Given the description of an element on the screen output the (x, y) to click on. 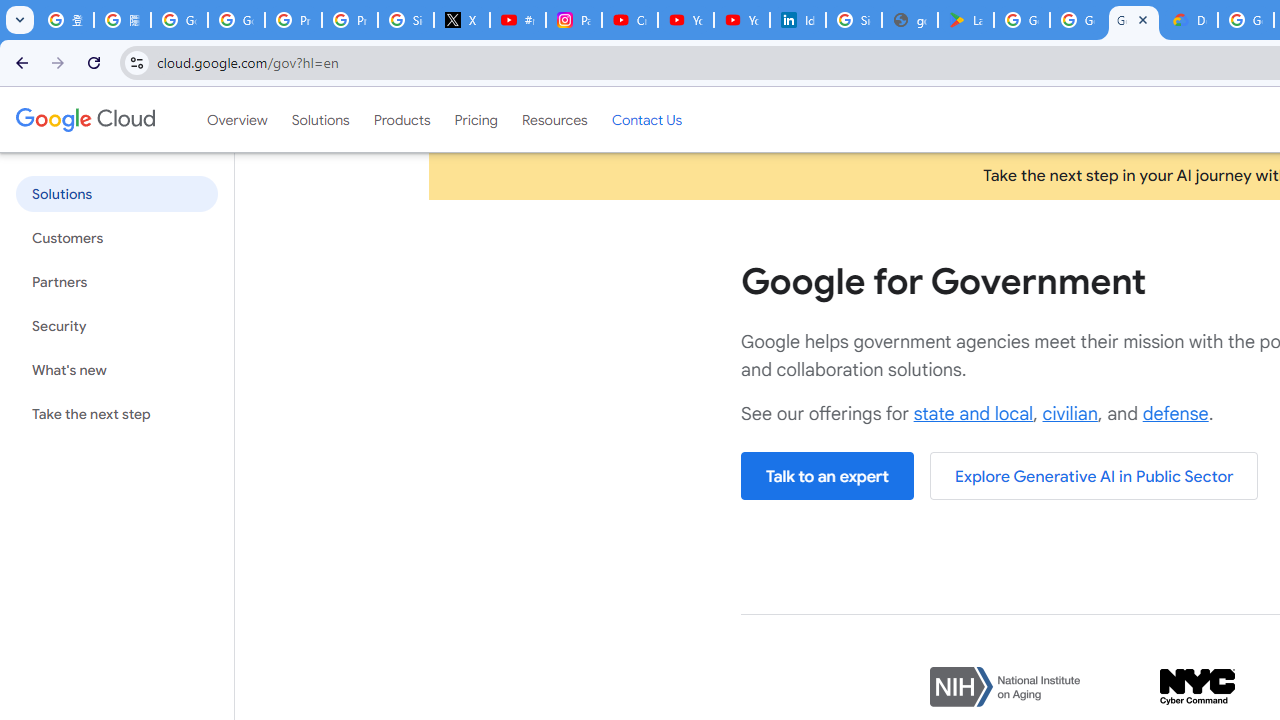
Google Workspace - Specific Terms (1077, 20)
Products (401, 119)
Contact Us (646, 119)
state and local (973, 413)
Take the next step (116, 414)
X (461, 20)
Resources (553, 119)
Solutions (320, 119)
#nbabasketballhighlights - YouTube (518, 20)
Privacy Help Center - Policies Help (349, 20)
Talk to an expert (827, 475)
